Given the description of an element on the screen output the (x, y) to click on. 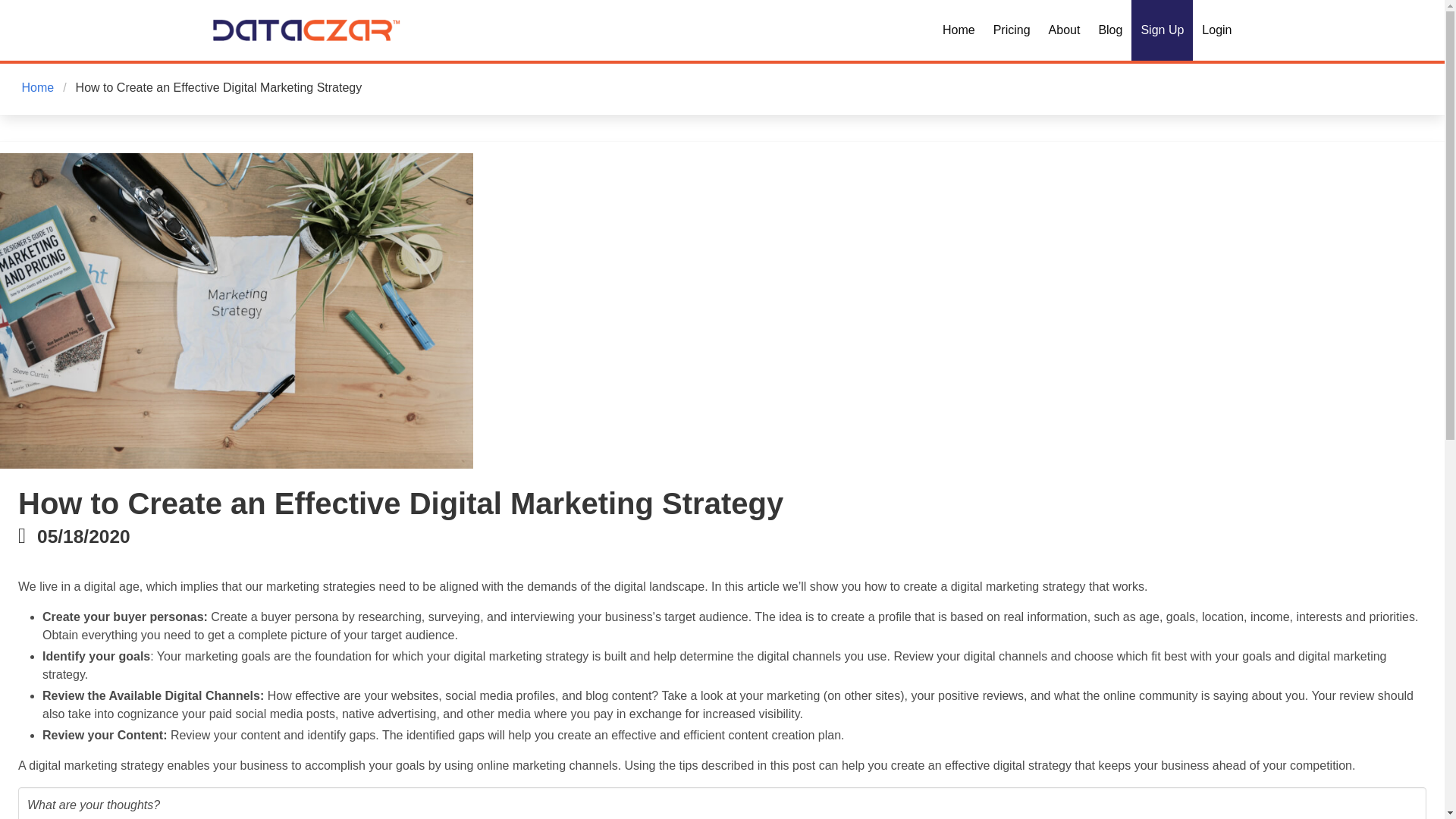
 Home (39, 87)
How to Create an Effective Digital Marketing Strategy (218, 87)
Sign Up (1161, 30)
Pricing (1011, 30)
